Given the description of an element on the screen output the (x, y) to click on. 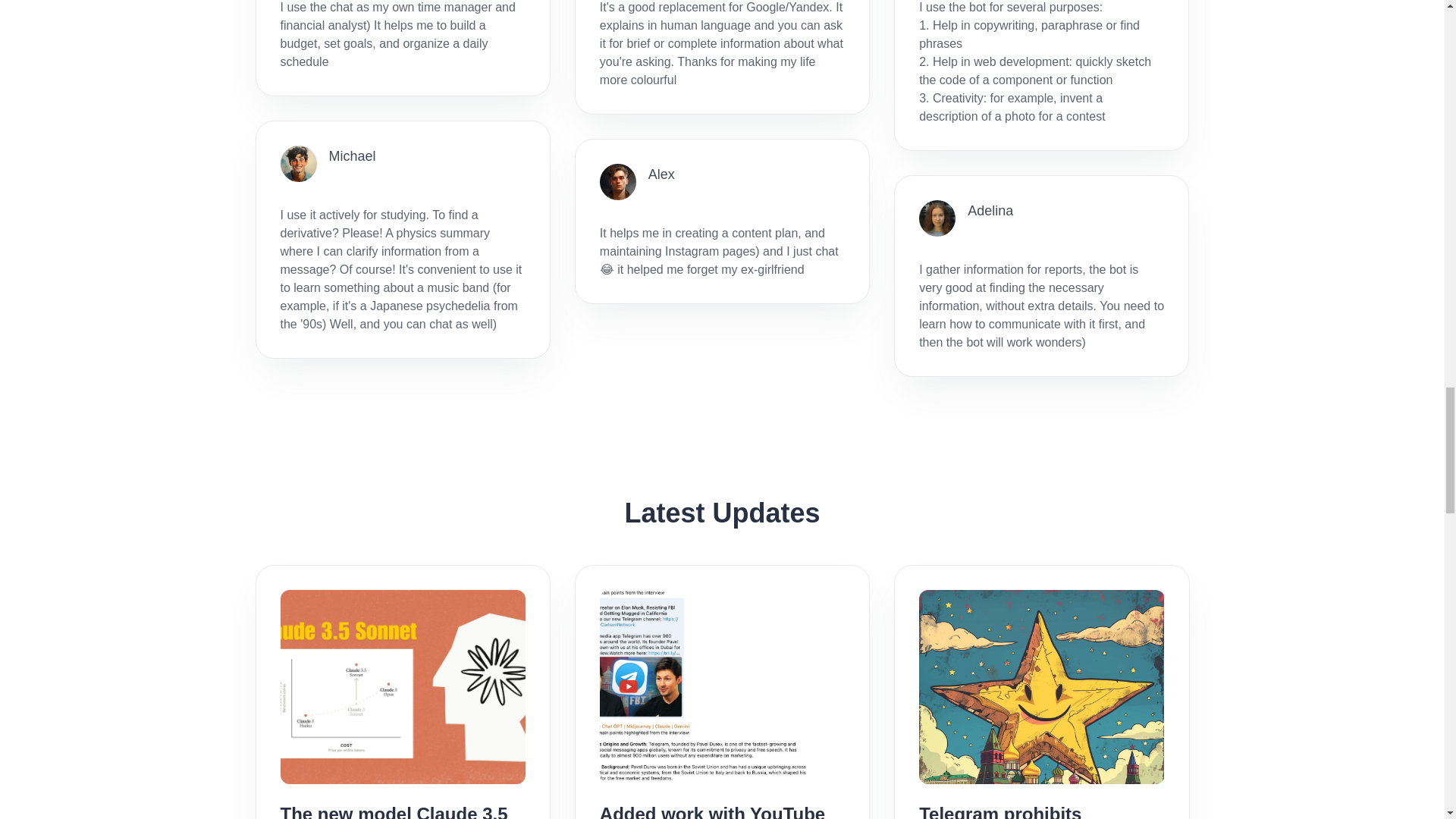
Telegram chat-bot. (514, 784)
Website. (484, 726)
